Given the description of an element on the screen output the (x, y) to click on. 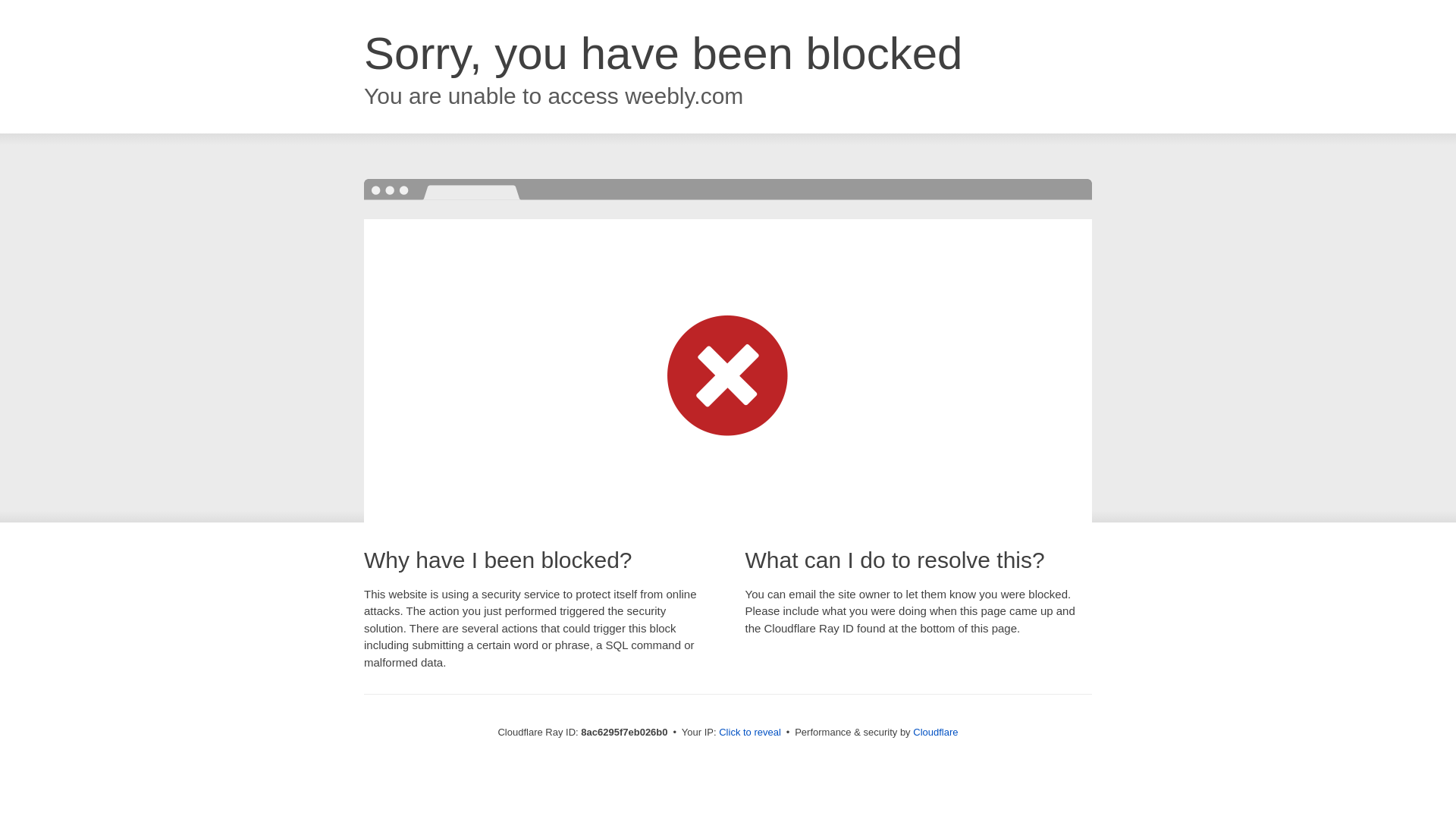
Click to reveal (749, 732)
Cloudflare (935, 731)
